Given the description of an element on the screen output the (x, y) to click on. 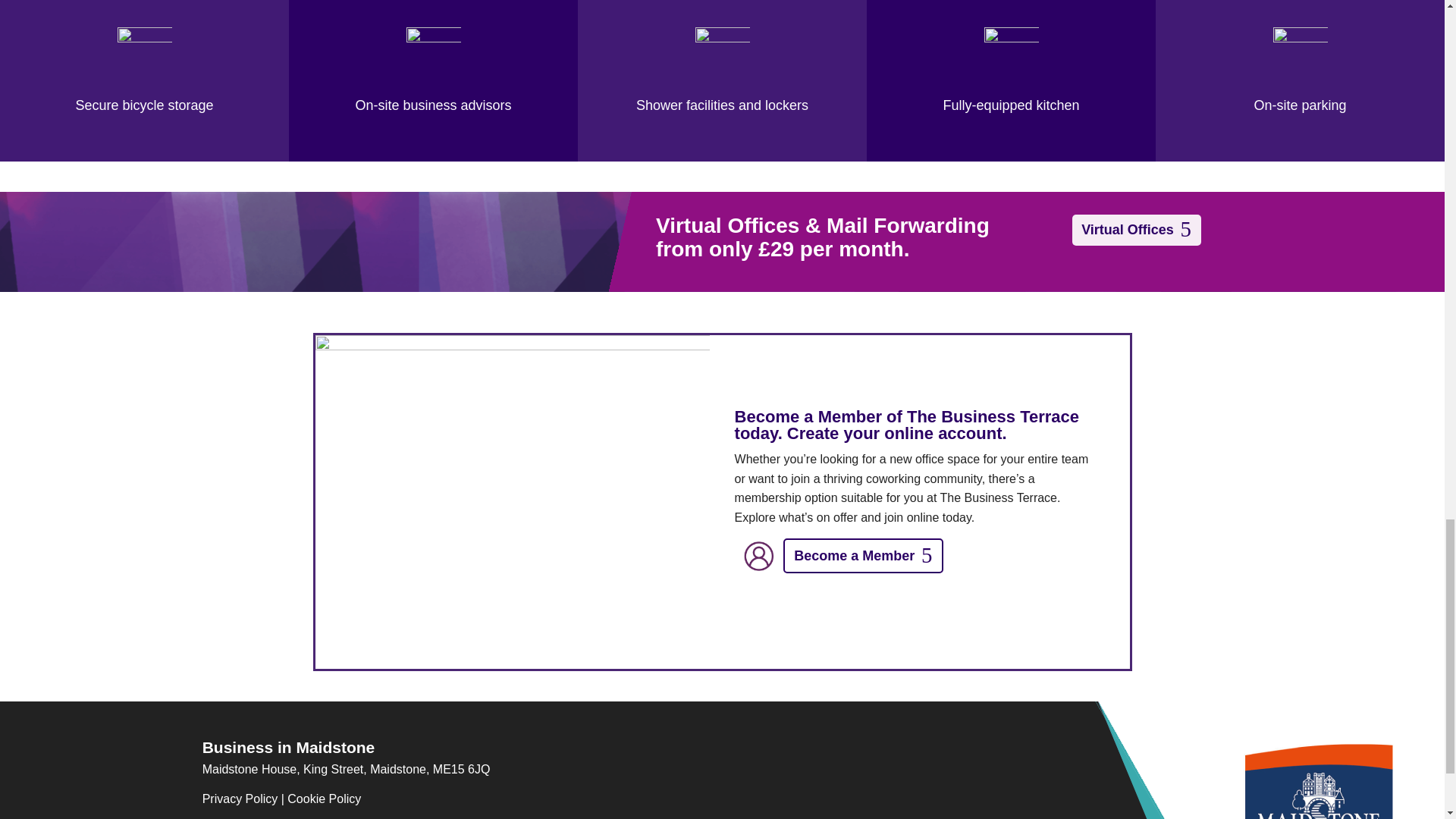
icons-member-login (759, 555)
Virtual Offices (1136, 229)
tbt-hero-2 (512, 501)
Privacy Policy (240, 798)
Cookie Policy (323, 798)
Become a Member (863, 555)
